Given the description of an element on the screen output the (x, y) to click on. 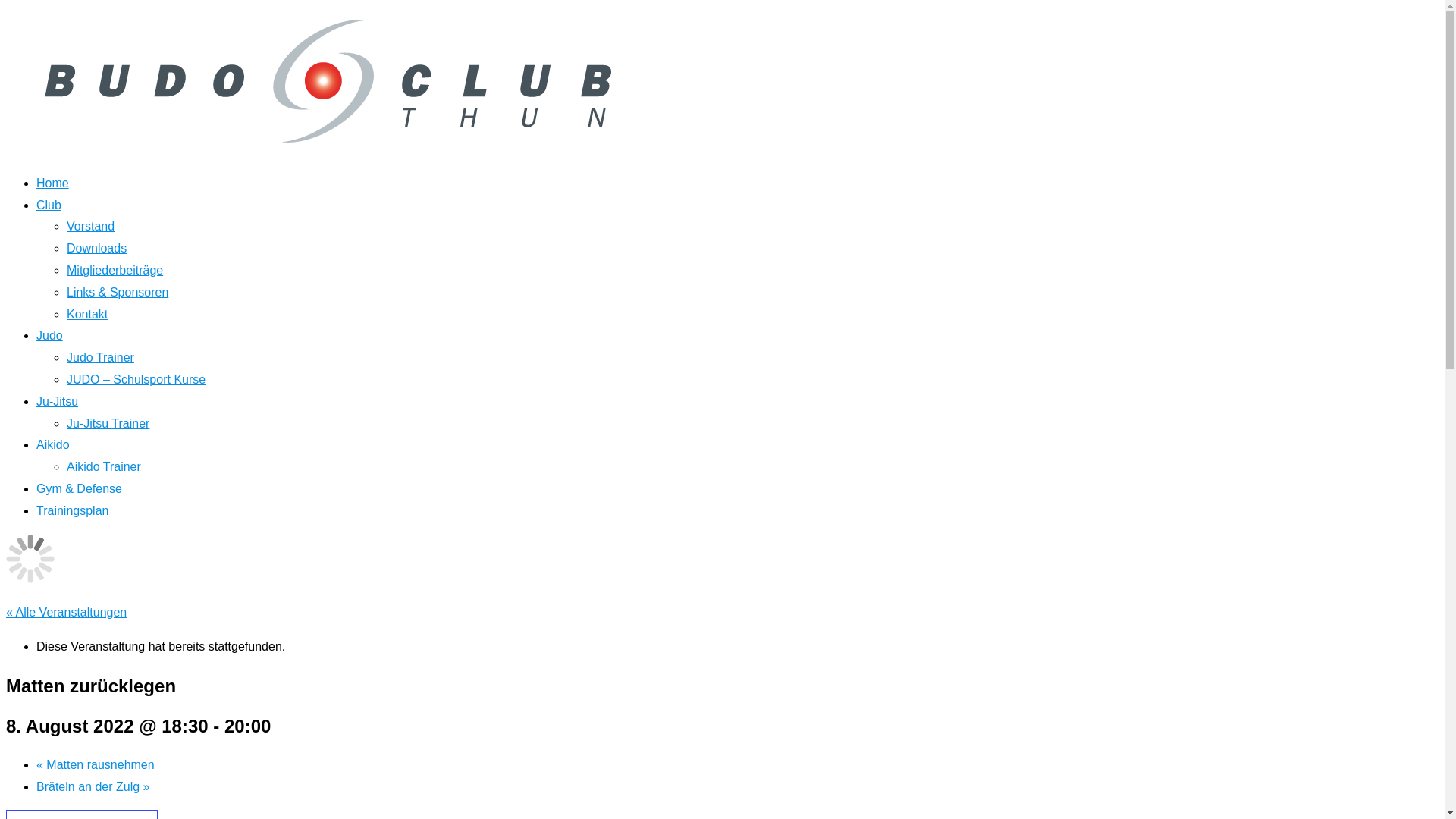
Vorstand Element type: text (90, 225)
Ju-Jitsu Trainer Element type: text (107, 423)
Trainingsplan Element type: text (72, 510)
Ju-Jitsu Element type: text (57, 401)
Judo Element type: text (49, 335)
Downloads Element type: text (96, 247)
Links & Sponsoren Element type: text (117, 291)
Aikido Trainer Element type: text (103, 466)
Club Element type: text (48, 204)
Home Element type: text (52, 182)
Kontakt Element type: text (86, 313)
Aikido Element type: text (52, 444)
Judo Trainer Element type: text (100, 357)
Gym & Defense Element type: text (79, 488)
